Given the description of an element on the screen output the (x, y) to click on. 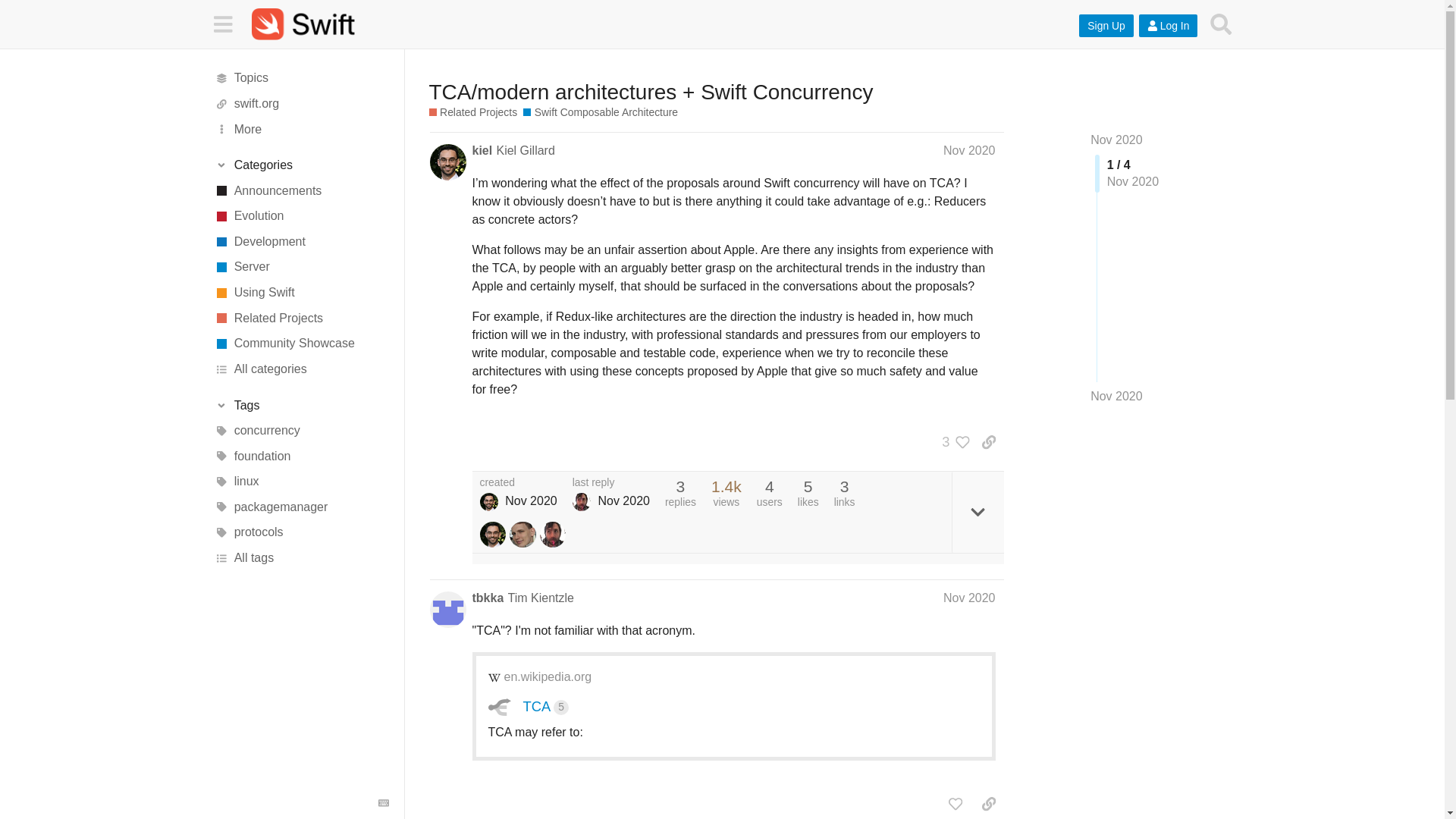
Categories (301, 165)
All tags (301, 557)
3 (951, 442)
Announcements (301, 190)
Tags (301, 405)
Evolution (301, 216)
Log In (1168, 25)
Development (301, 241)
Toggle section (301, 405)
packagemanager (301, 507)
concurrency (301, 430)
Swift Composable Architecture (600, 112)
Using Swift (301, 292)
Related Projects (473, 112)
All topics (301, 78)
